Given the description of an element on the screen output the (x, y) to click on. 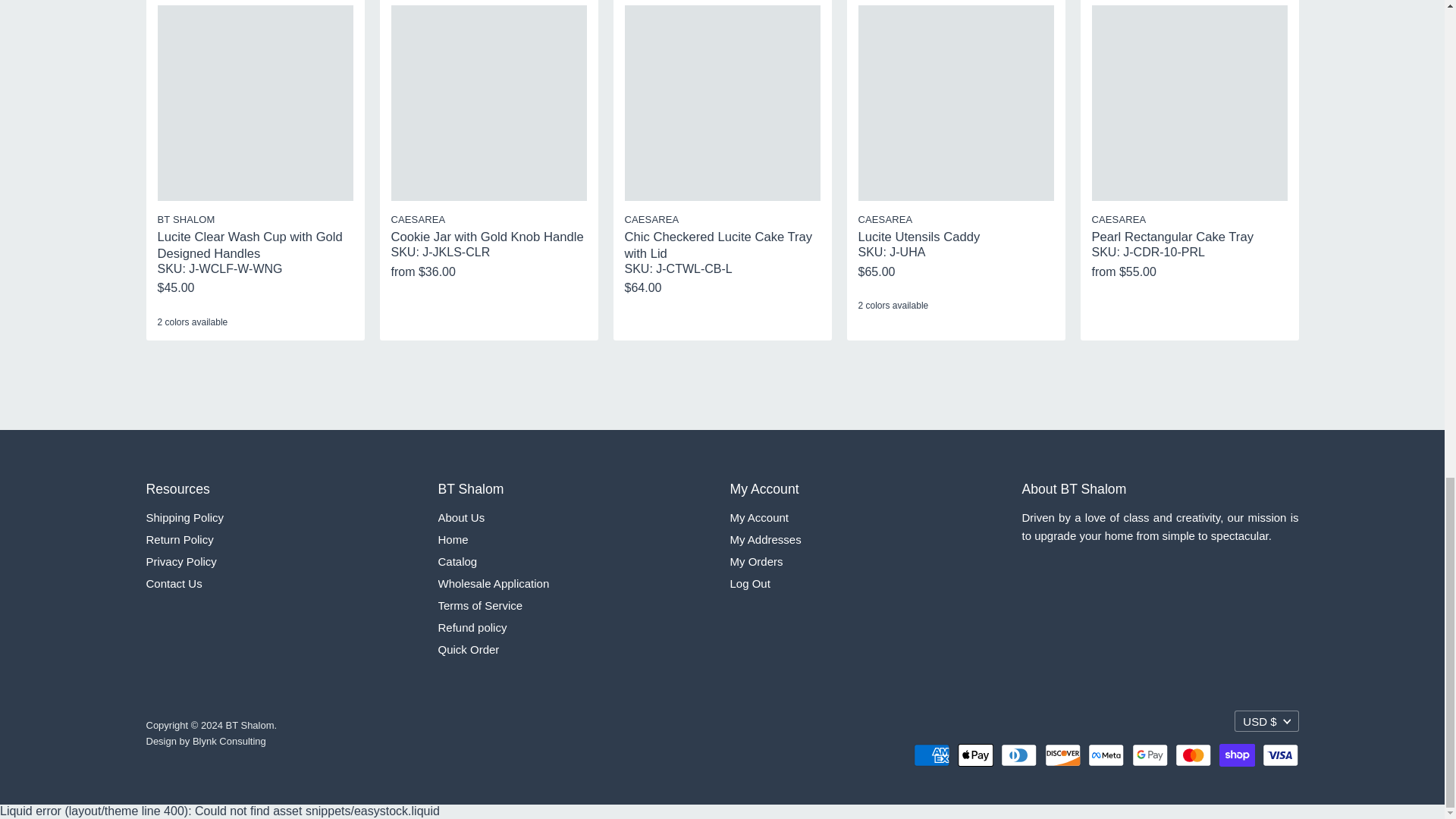
blynkconsulting.com (229, 740)
